Given the description of an element on the screen output the (x, y) to click on. 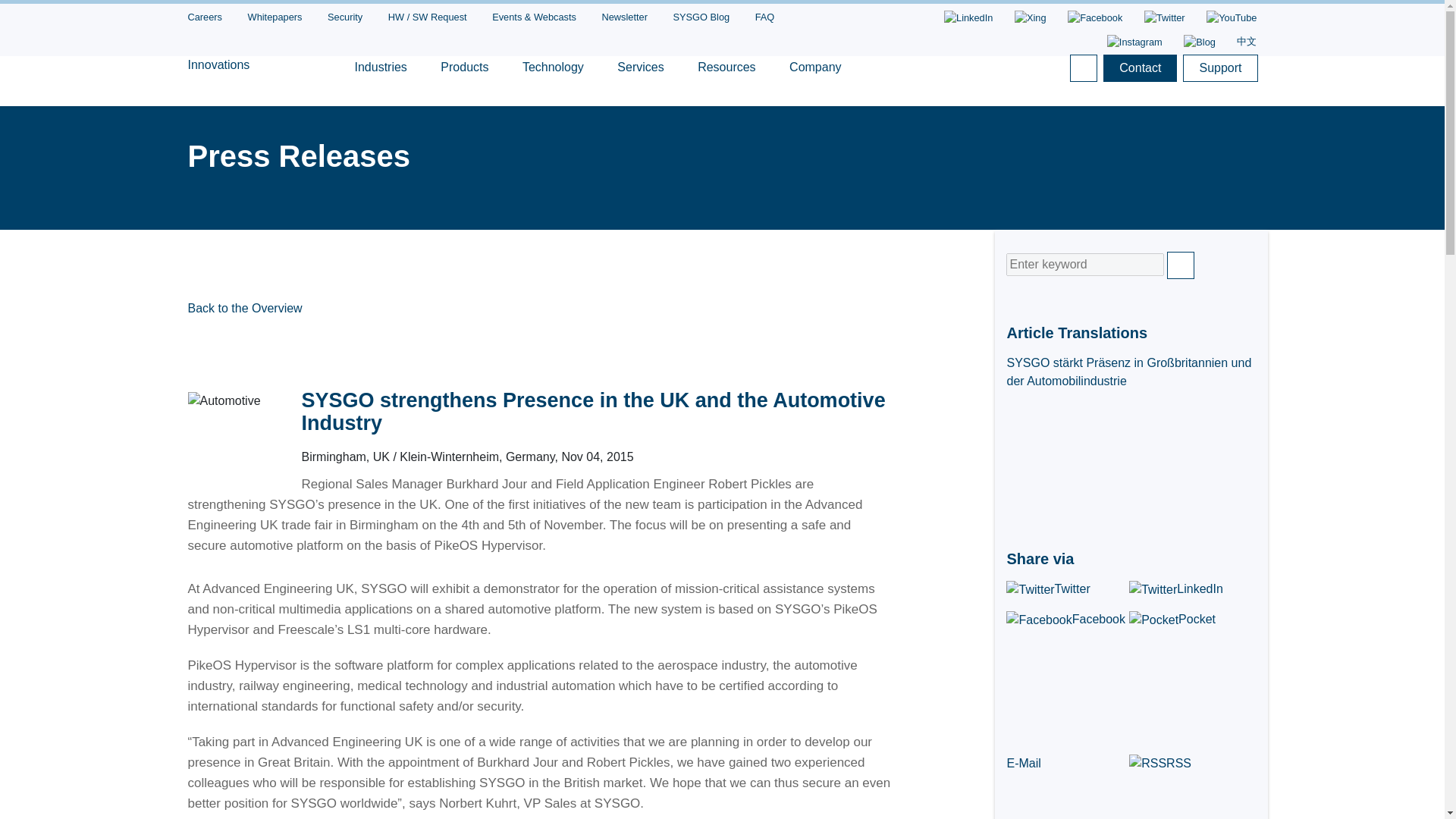
Products (464, 78)
Industries (380, 78)
Blog (1199, 42)
Facebook (1094, 17)
YouTube (1231, 17)
FAQ (764, 15)
Xing (1030, 17)
Careers (204, 15)
Whitepapers (274, 15)
SYSGO - Embedding Innovations (252, 55)
